Given the description of an element on the screen output the (x, y) to click on. 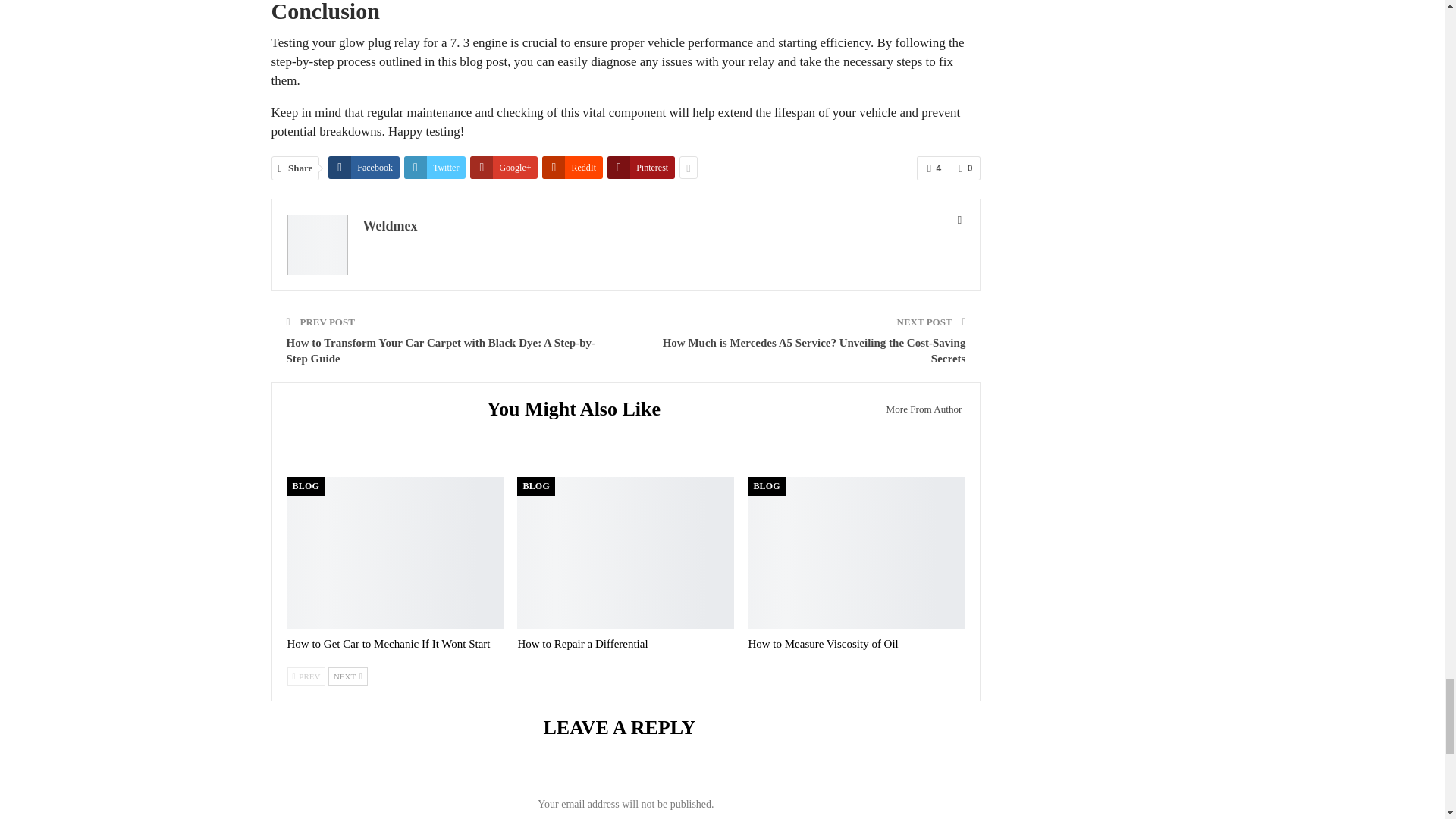
How to Measure Viscosity of Oil (855, 552)
How to Repair a Differential (624, 552)
How to Repair a Differential (581, 644)
Facebook (363, 167)
How to Measure Viscosity of Oil (823, 644)
Twitter (434, 167)
You Might Also Like (579, 410)
How to Get Car to Mechanic If It Wont Start (394, 552)
ReddIt (571, 167)
Pinterest (641, 167)
How to Get Car to Mechanic If It Wont Start (387, 644)
Weldmex (389, 225)
0 (964, 168)
